Given the description of an element on the screen output the (x, y) to click on. 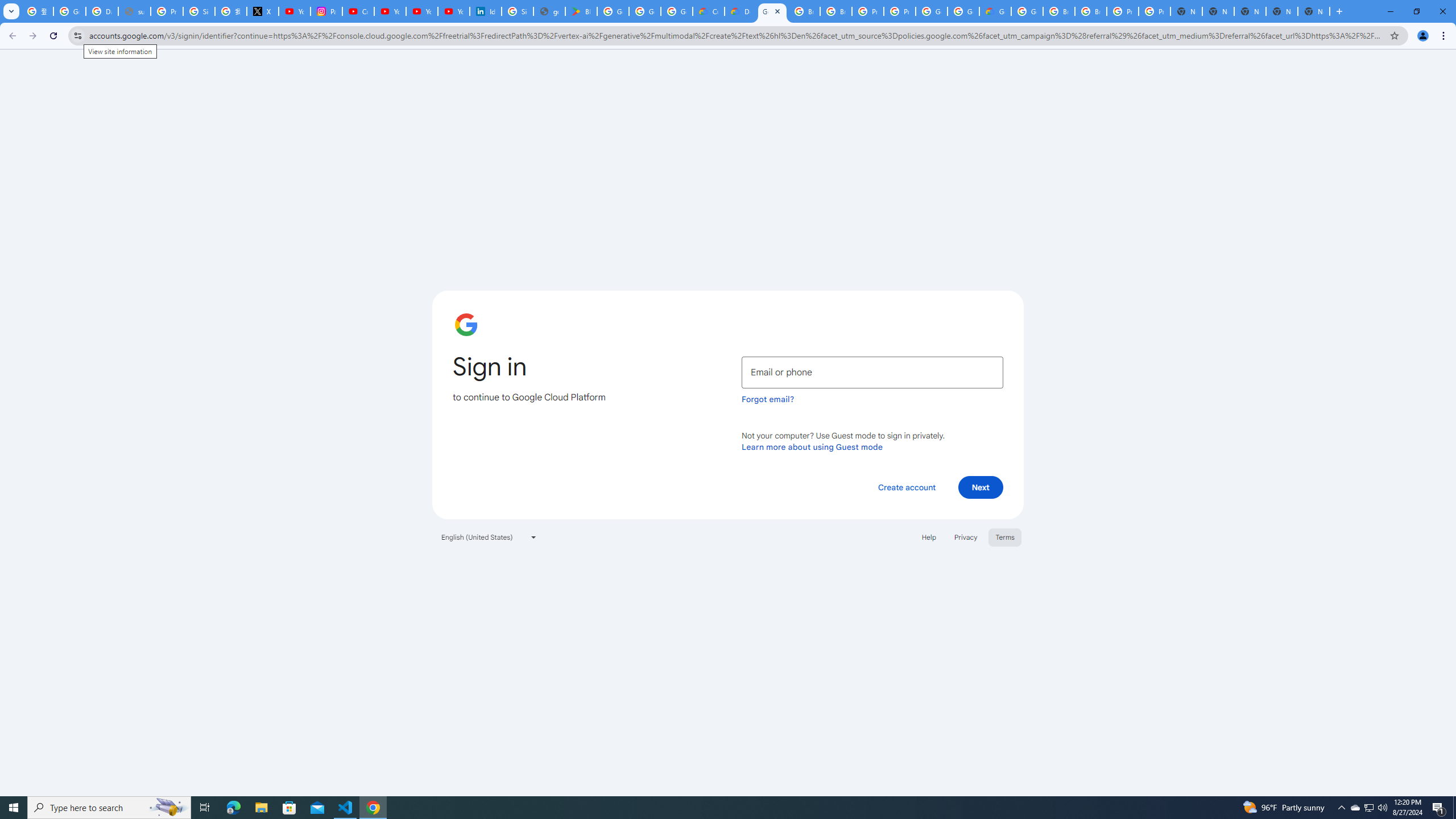
google_privacy_policy_en.pdf (549, 11)
Browse Chrome as a guest - Computer - Google Chrome Help (804, 11)
Privacy Help Center - Policies Help (166, 11)
